Given the description of an element on the screen output the (x, y) to click on. 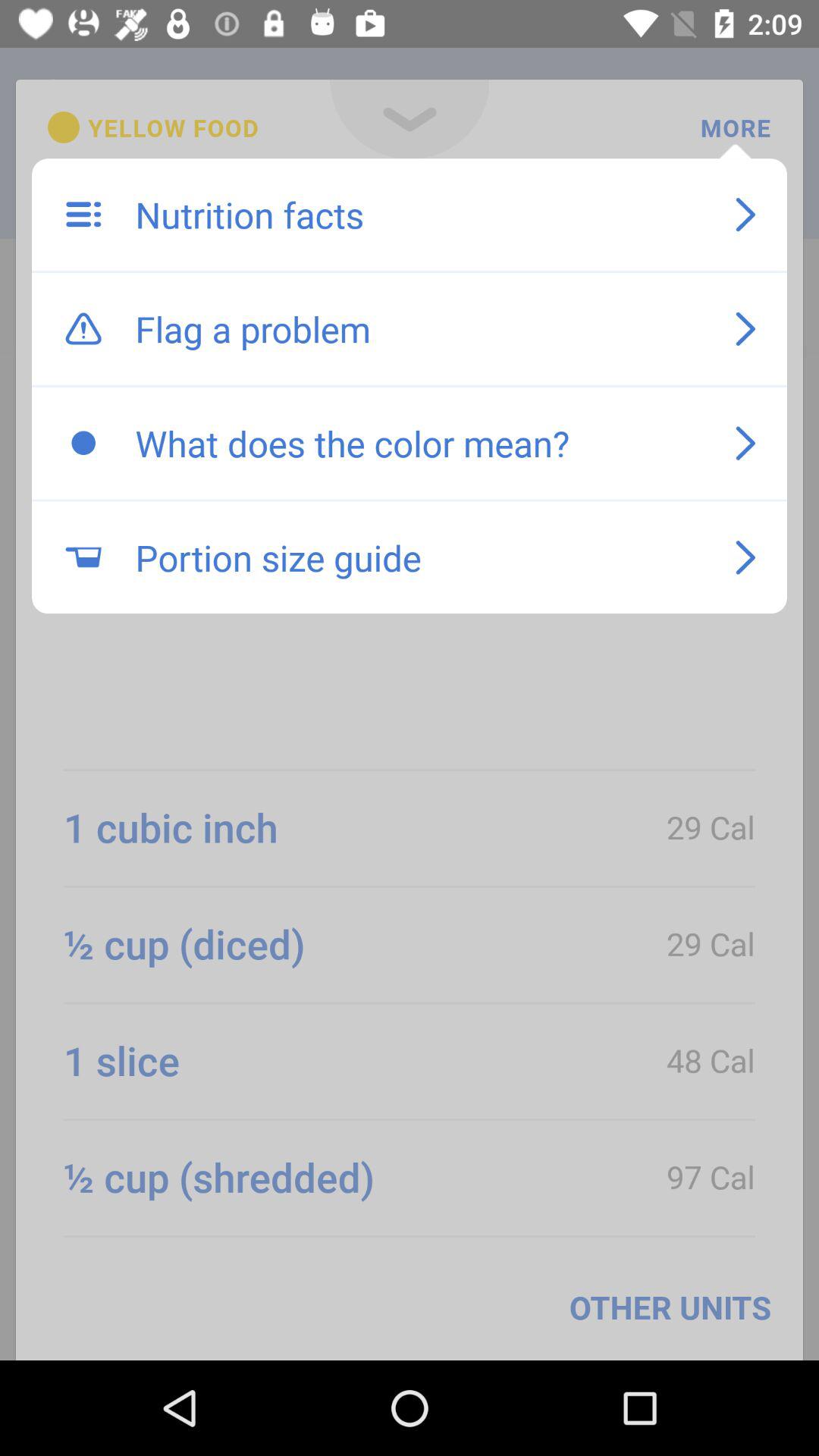
open the flag a problem (419, 328)
